Given the description of an element on the screen output the (x, y) to click on. 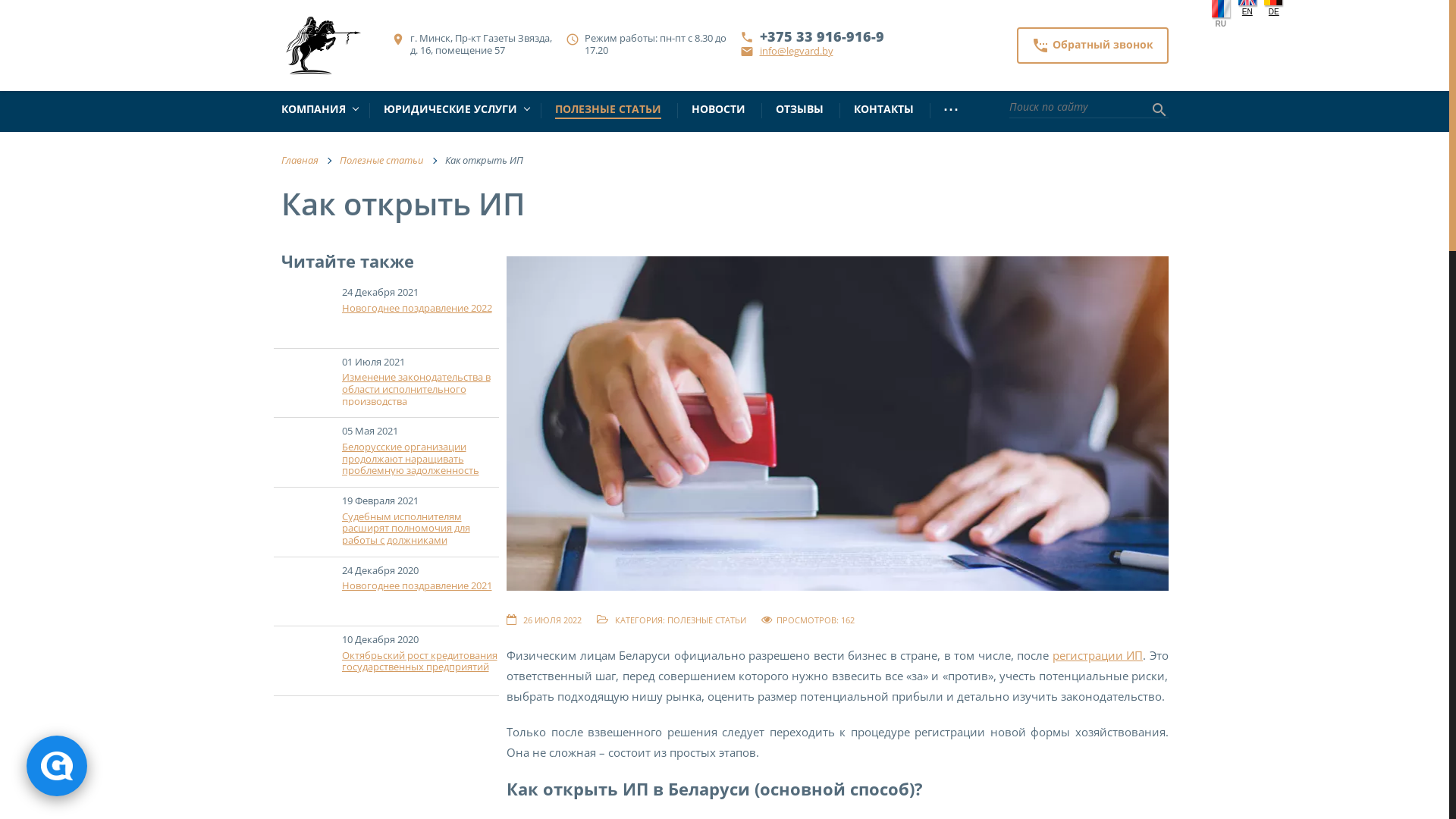
+375 33 916-916-9 Element type: text (821, 36)
search Element type: text (1158, 110)
info@legvard.by Element type: text (796, 50)
